Given the description of an element on the screen output the (x, y) to click on. 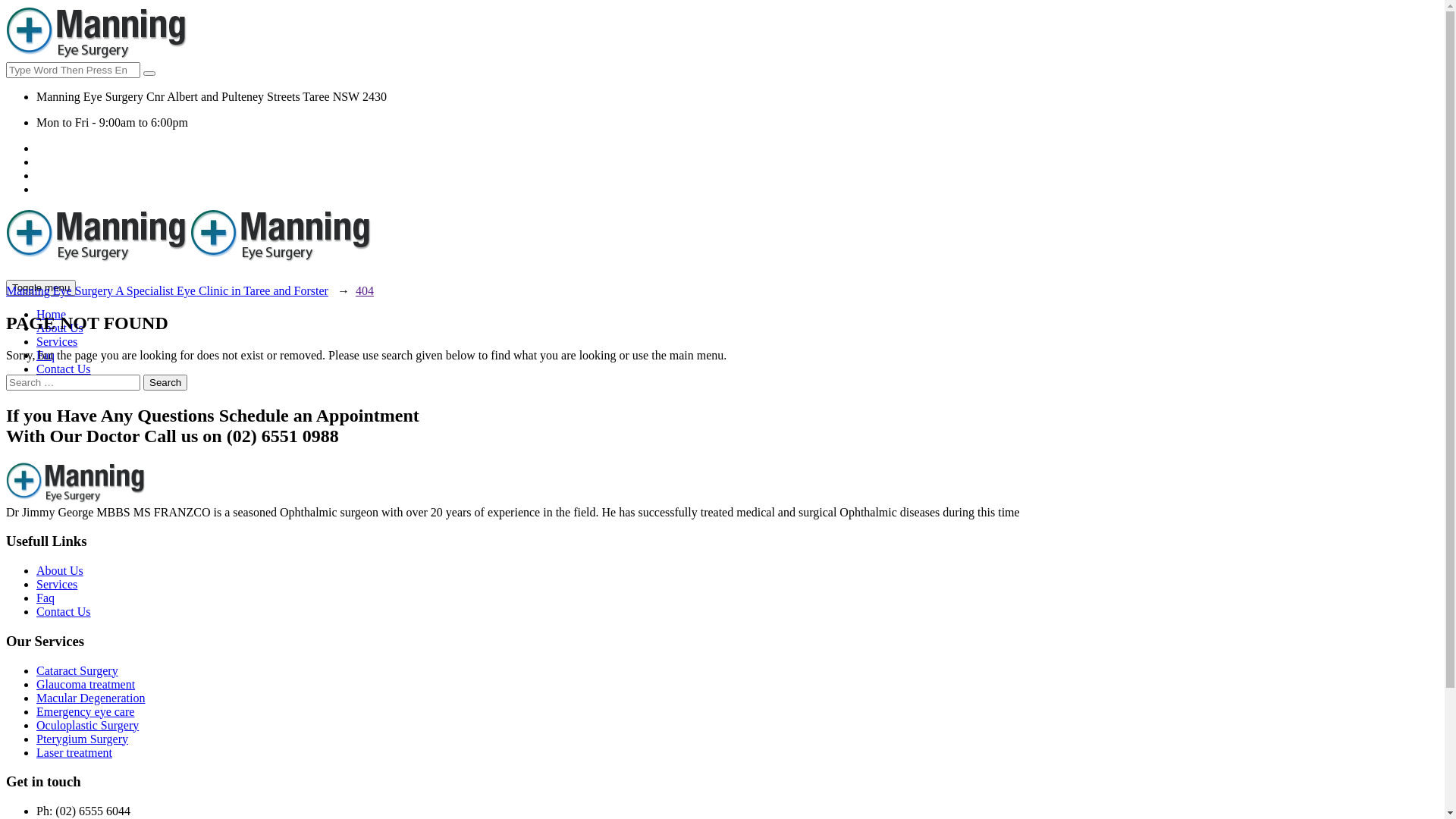
Home Element type: text (50, 313)
Services Element type: text (56, 583)
About Us Element type: text (59, 570)
Macular Degeneration Element type: text (90, 697)
Pterygium Surgery Element type: text (82, 738)
Contact Us Element type: text (63, 368)
Contact Us Element type: text (63, 611)
Toggle menu Element type: text (40, 287)
Faq Element type: text (45, 597)
Laser treatment Element type: text (74, 752)
Services Element type: text (56, 341)
Faq Element type: text (45, 354)
Oculoplastic Surgery Element type: text (87, 724)
Glaucoma treatment Element type: text (85, 683)
Emergency eye care Element type: text (85, 711)
Cataract Surgery Element type: text (77, 670)
About Us Element type: text (59, 327)
Search Element type: text (165, 382)
404 Element type: text (364, 290)
